Given the description of an element on the screen output the (x, y) to click on. 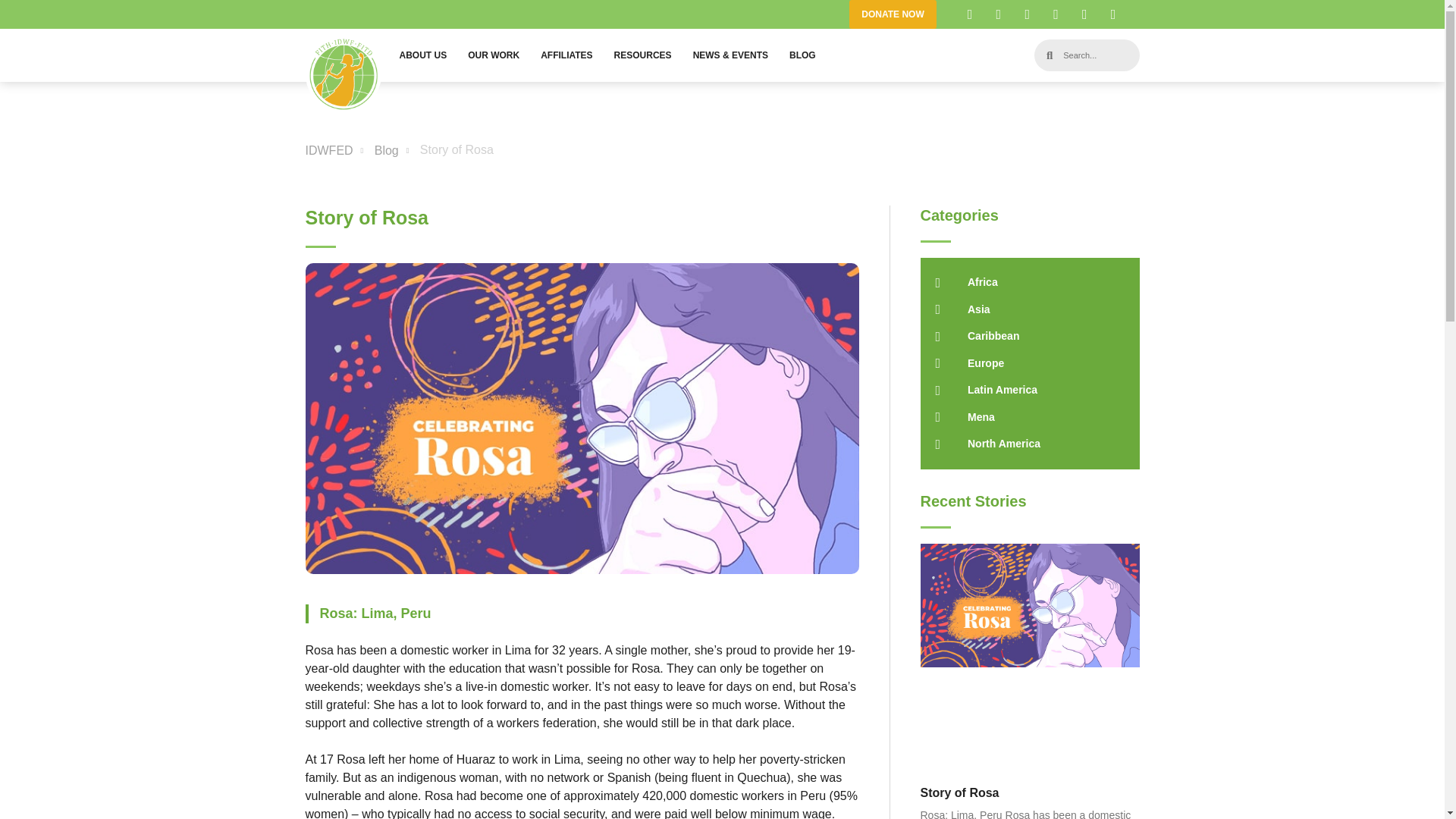
OUR WORK (493, 54)
DONATE NOW (892, 14)
BLOG (802, 54)
AFFILIATES (565, 54)
RESOURCES (643, 54)
ABOUT US (422, 54)
